Given the description of an element on the screen output the (x, y) to click on. 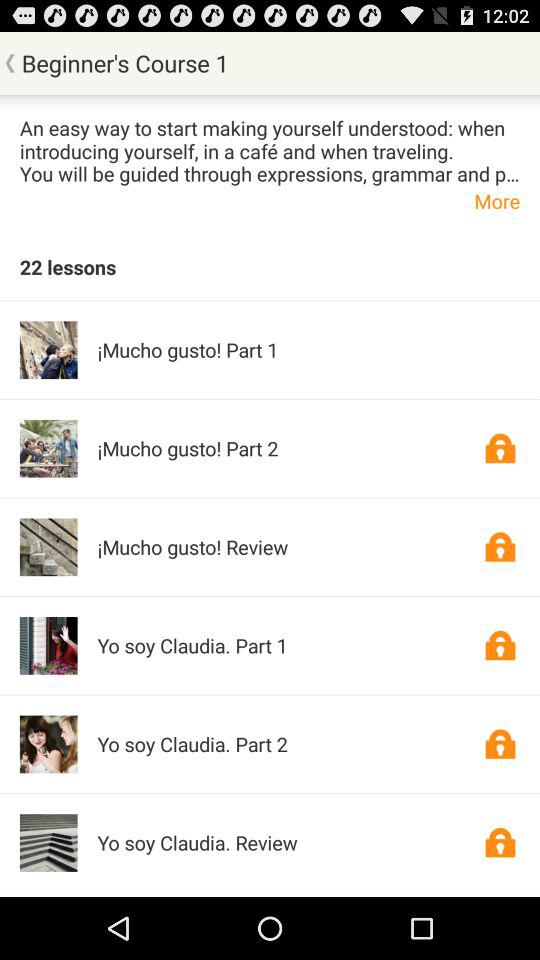
turn on the app below an easy way app (269, 200)
